Given the description of an element on the screen output the (x, y) to click on. 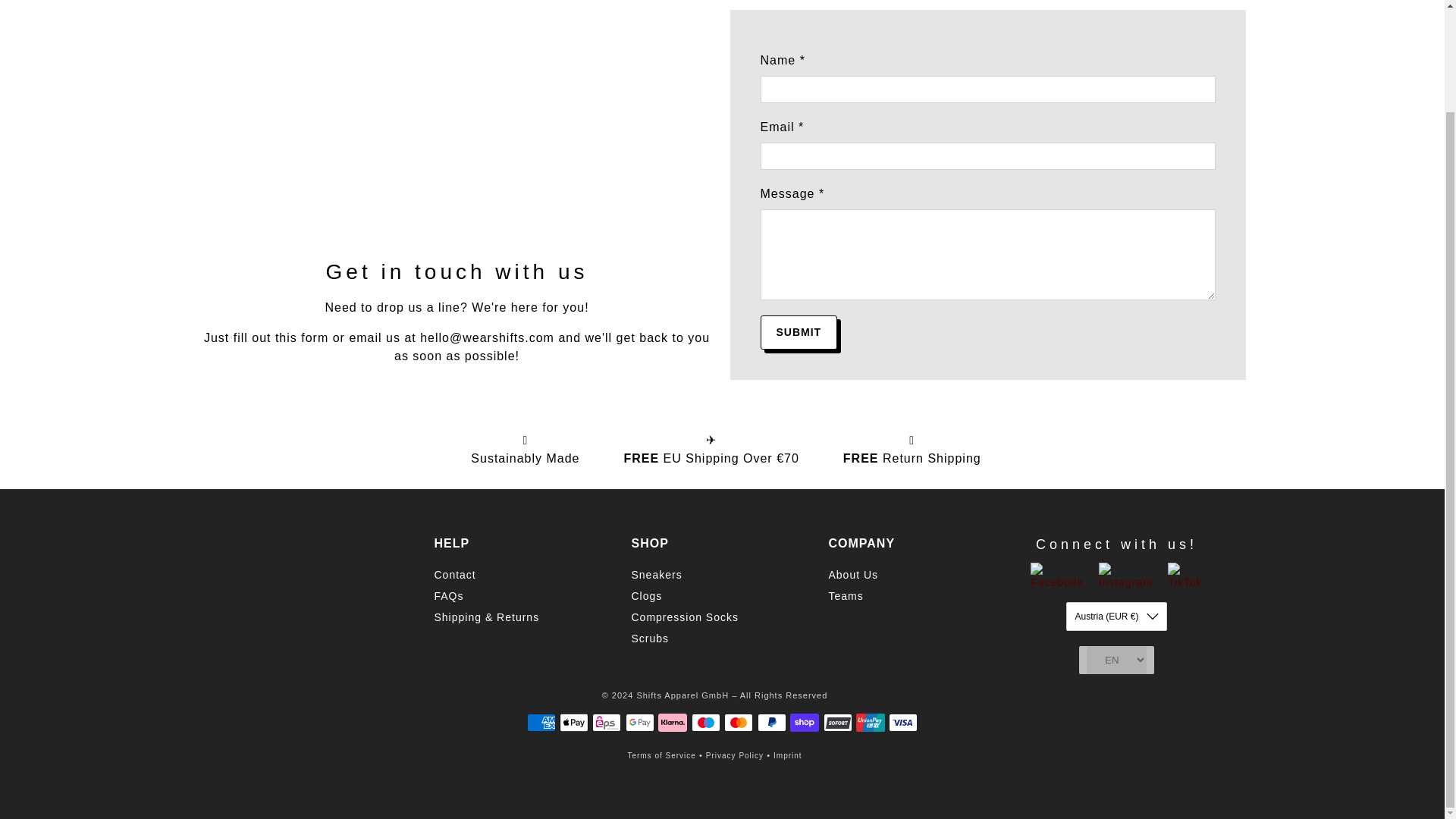
Google Pay (639, 721)
Klarna (672, 721)
EPS (606, 721)
American Express (539, 721)
Shop Pay (804, 721)
Maestro (705, 721)
SOFORT (837, 721)
Mastercard (737, 721)
Apple Pay (573, 721)
Visa (902, 721)
Shifts (290, 584)
PayPal (771, 721)
Union Pay (870, 721)
